Given the description of an element on the screen output the (x, y) to click on. 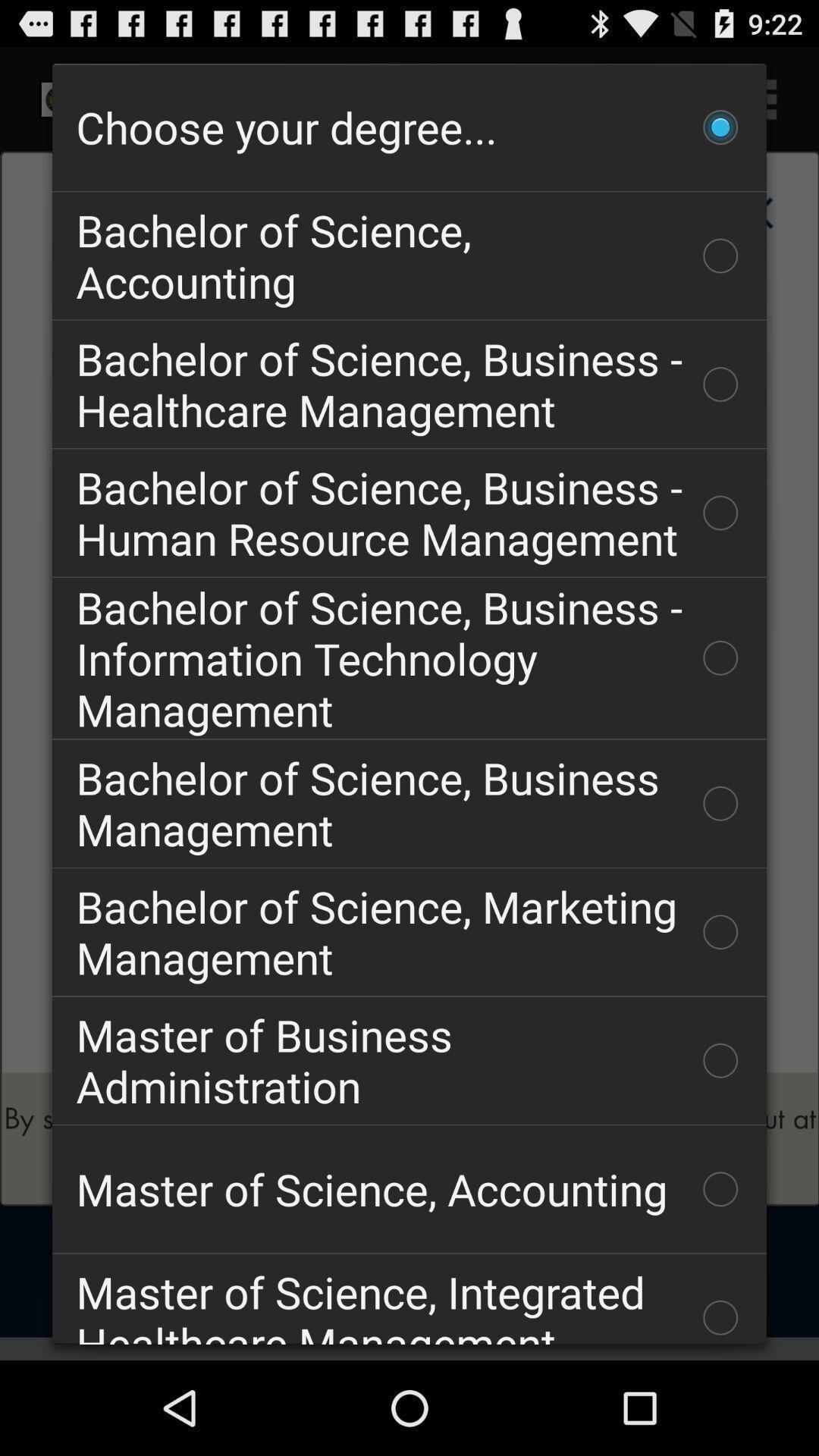
flip until choose your degree... icon (409, 127)
